Given the description of an element on the screen output the (x, y) to click on. 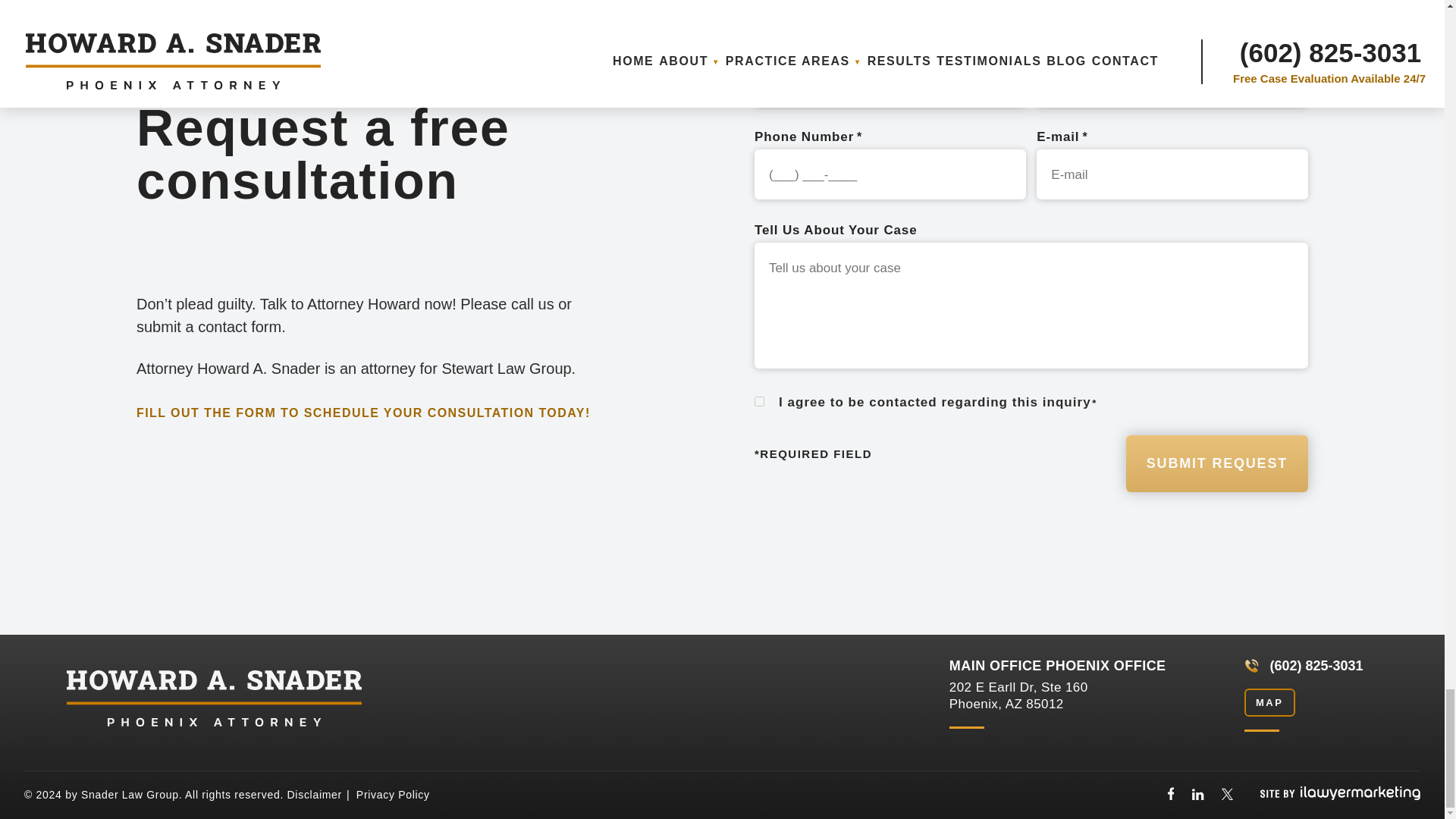
Submit Request (1216, 462)
1 (759, 401)
